Given the description of an element on the screen output the (x, y) to click on. 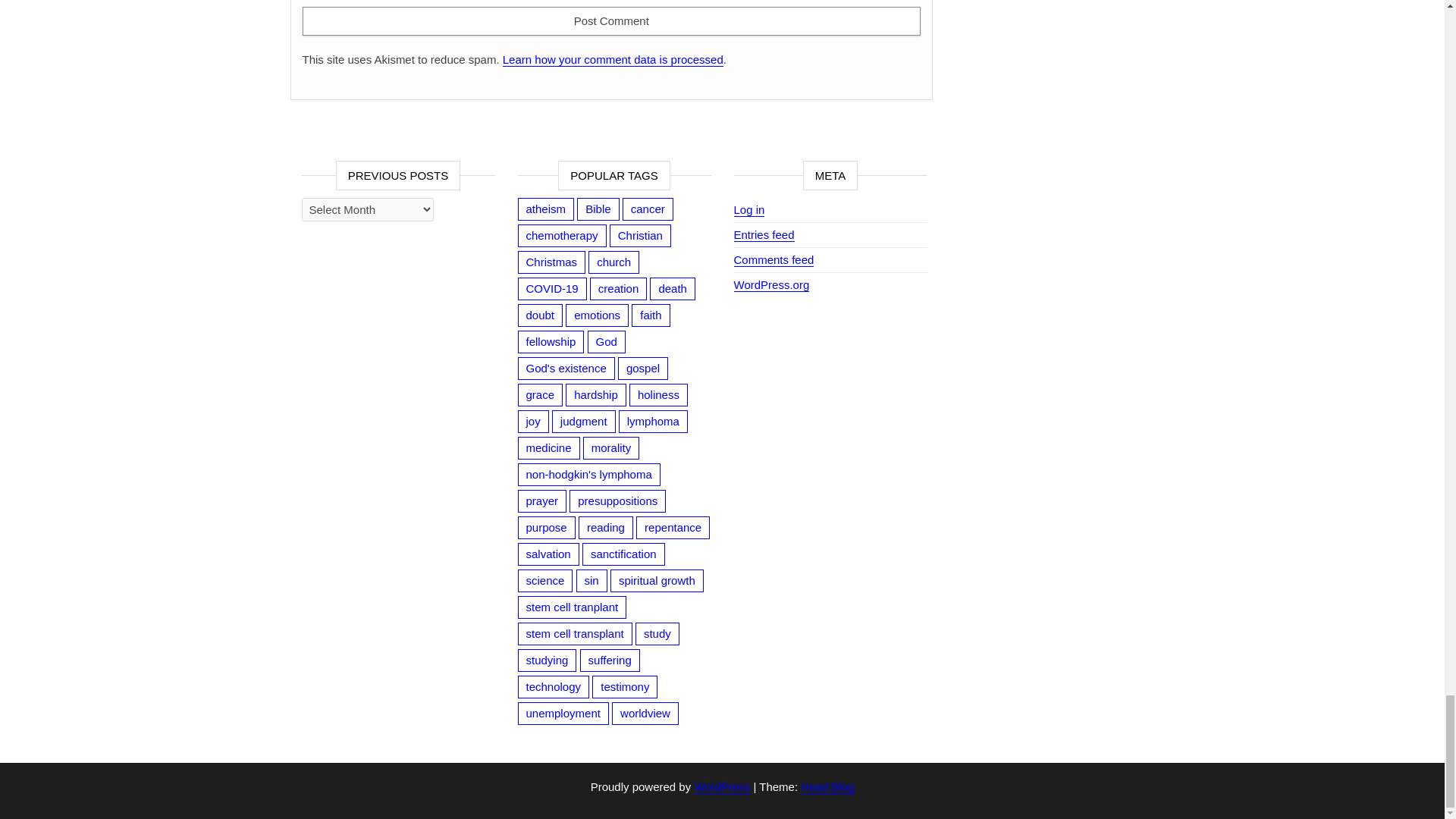
Post Comment (610, 21)
Learn how your comment data is processed (612, 59)
Post Comment (610, 21)
